Given the description of an element on the screen output the (x, y) to click on. 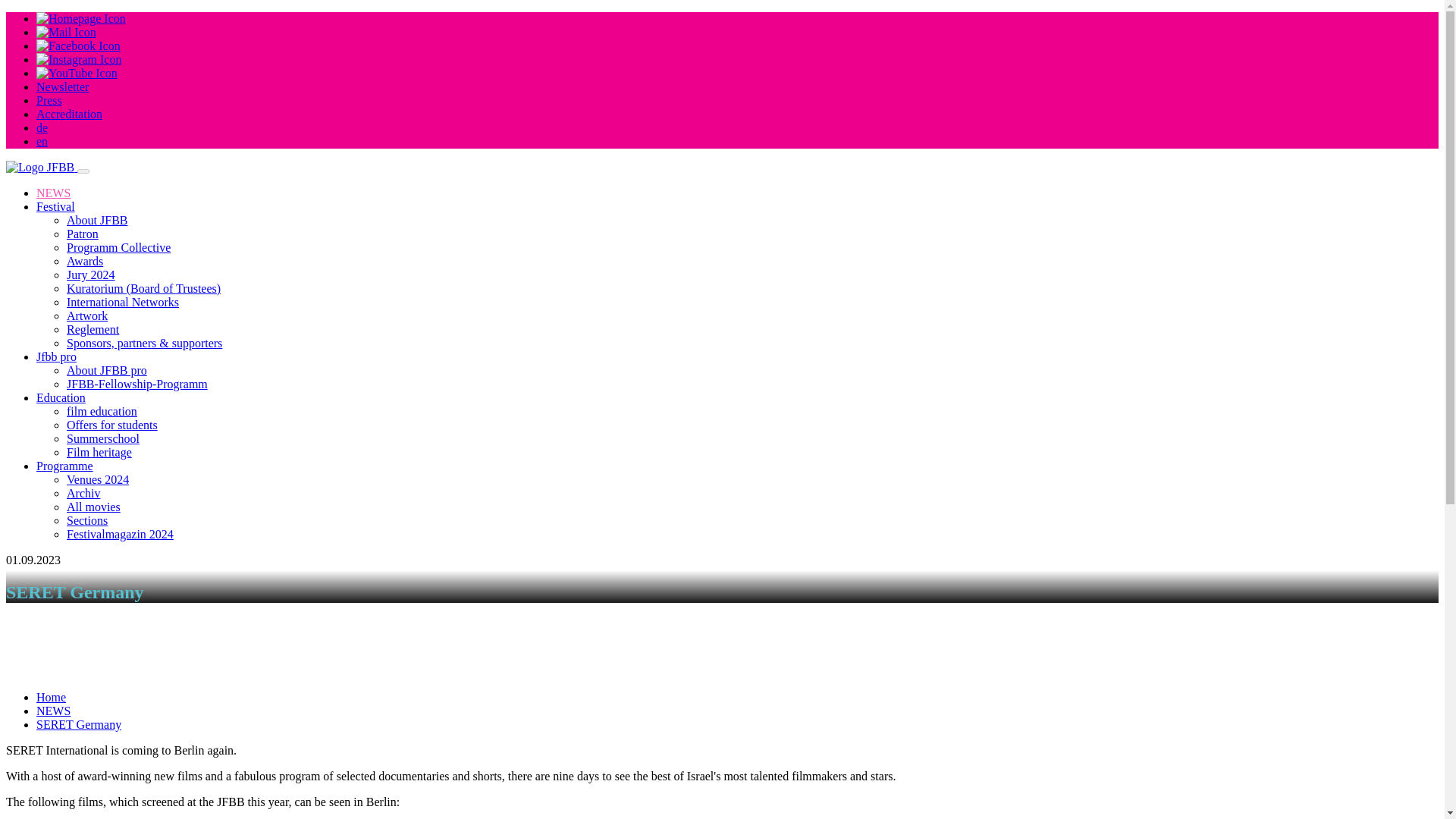
Press (49, 100)
Offers for students (111, 424)
Jury 2024 (90, 274)
Reglement (92, 328)
Festival (55, 205)
Patron (82, 233)
Venues 2024 (97, 479)
NEWS (52, 192)
Education (60, 397)
International Networks (122, 301)
